Given the description of an element on the screen output the (x, y) to click on. 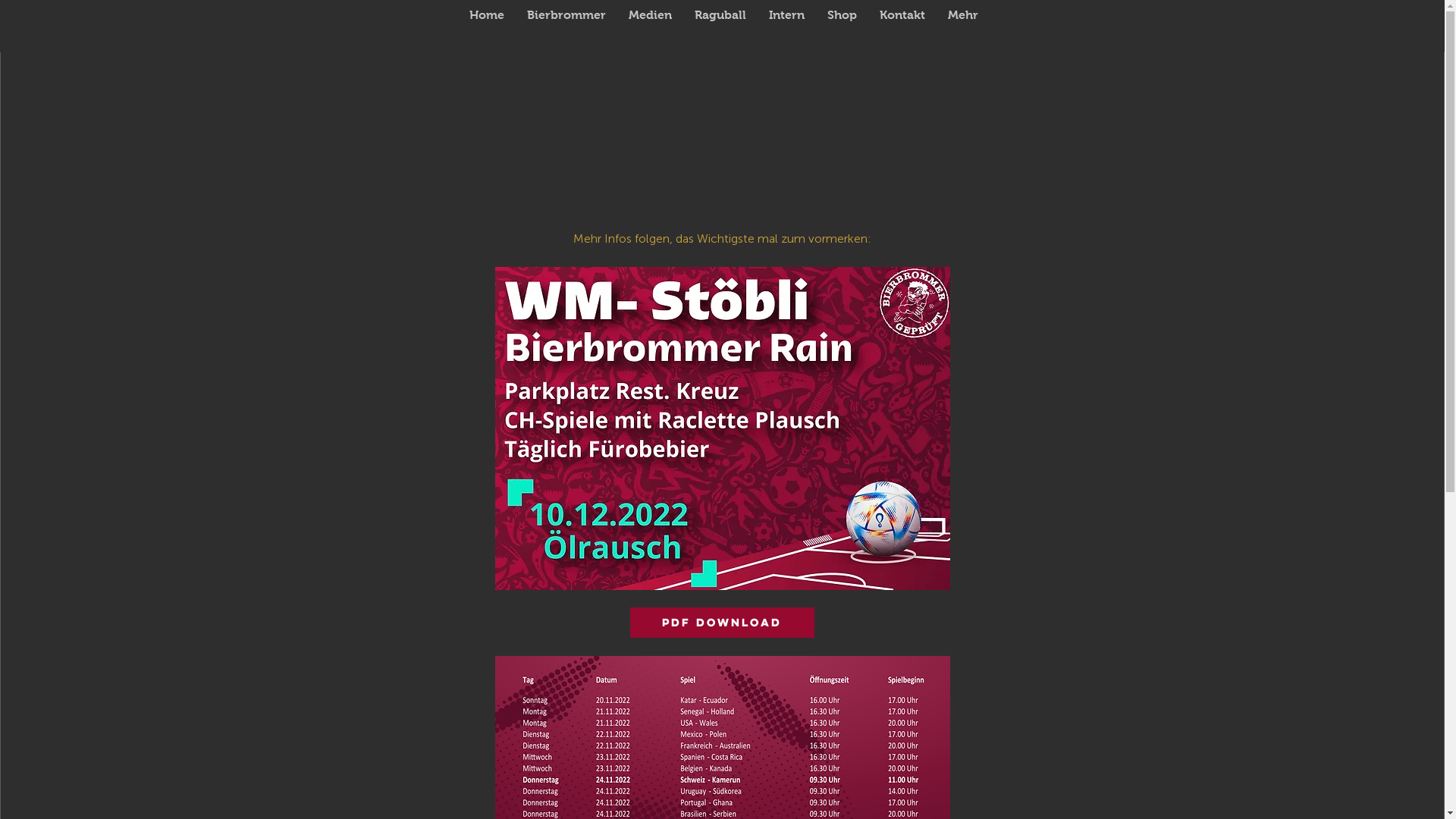
Bierbrommer Element type: text (566, 26)
Raguball Element type: text (720, 26)
Medien Element type: text (650, 26)
Intern Element type: text (786, 26)
Shop Element type: text (841, 26)
Home Element type: text (486, 26)
PDF Download Element type: text (721, 622)
Kontakt Element type: text (902, 26)
